Given the description of an element on the screen output the (x, y) to click on. 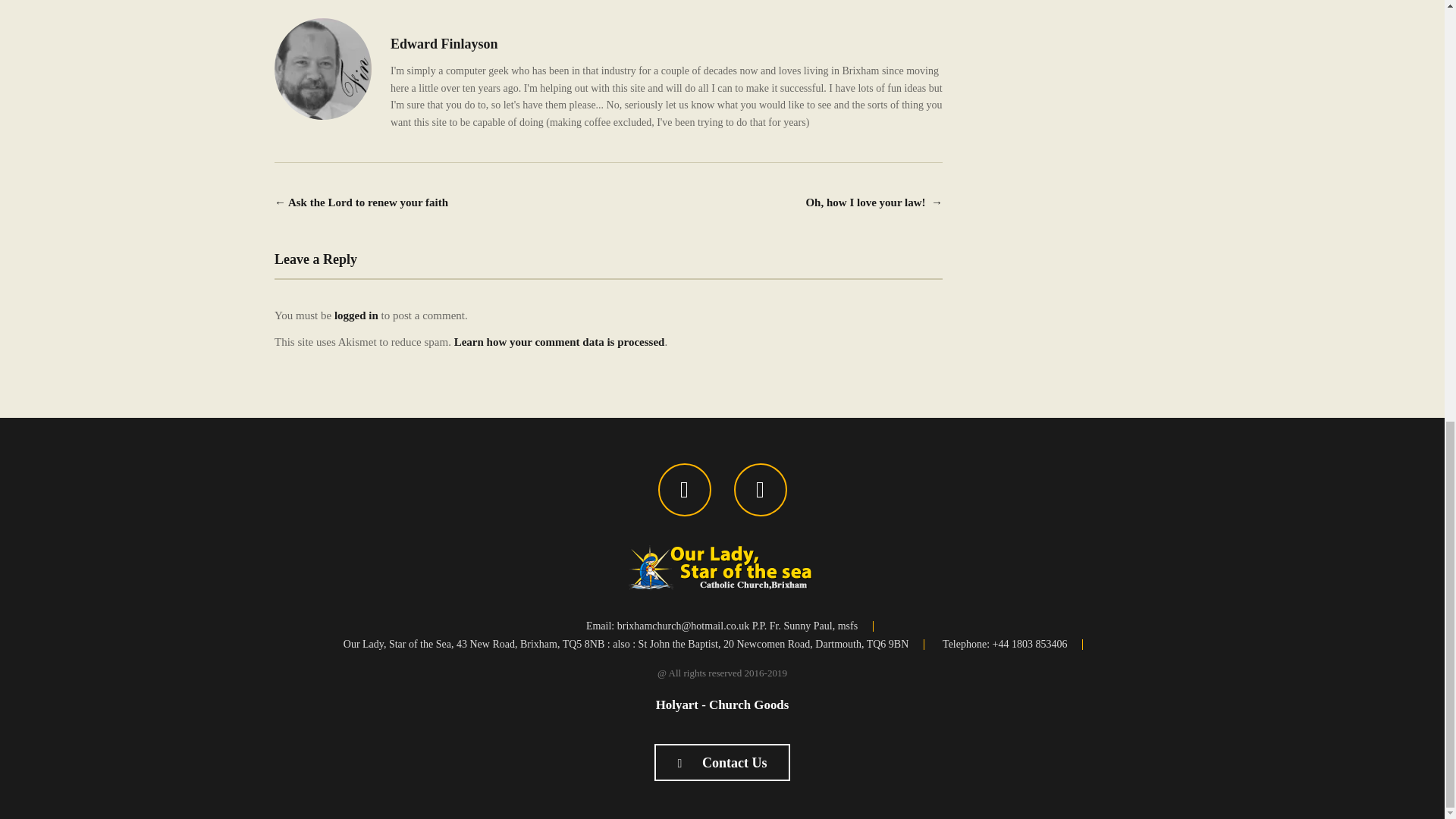
Edward Finlayson (443, 43)
logged in (356, 315)
Facebook (684, 489)
Learn how your comment data is processed (559, 341)
Twitter (760, 489)
